Given the description of an element on the screen output the (x, y) to click on. 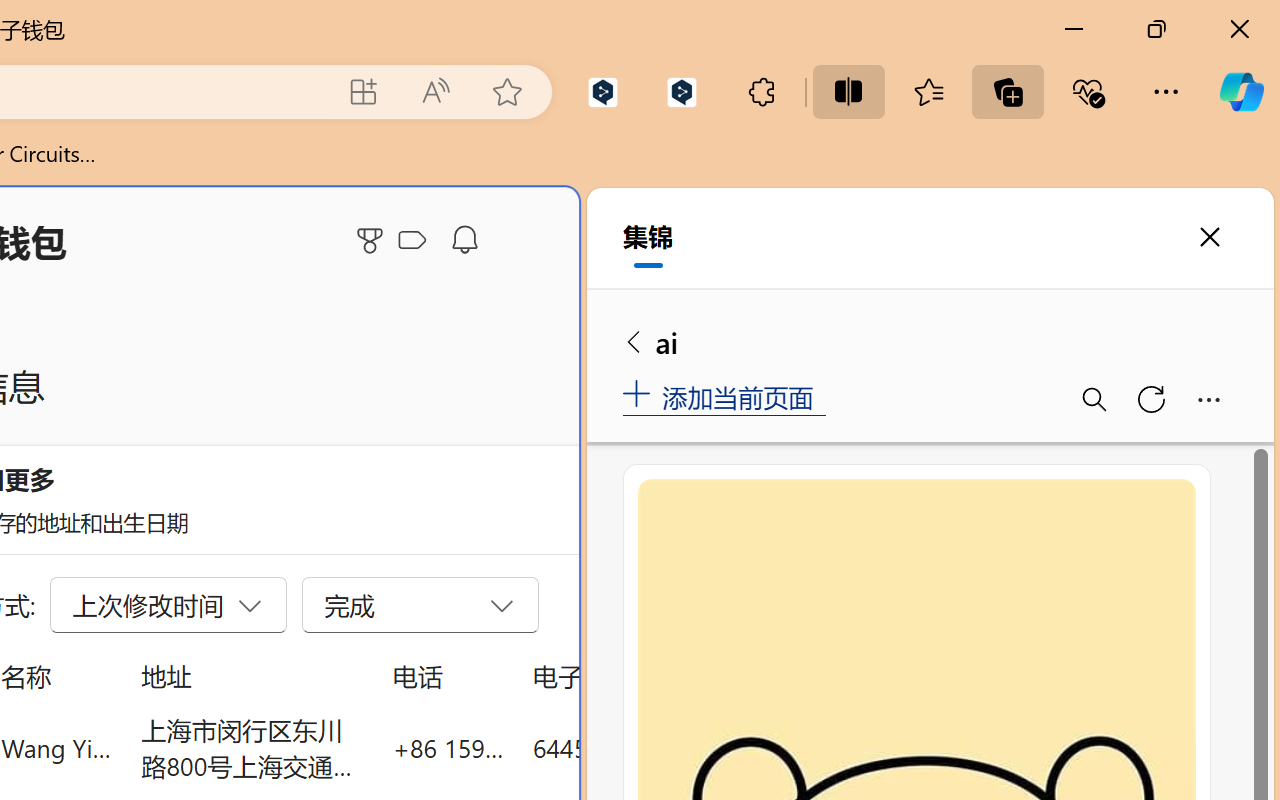
644553698@qq.com (644, 747)
